Given the description of an element on the screen output the (x, y) to click on. 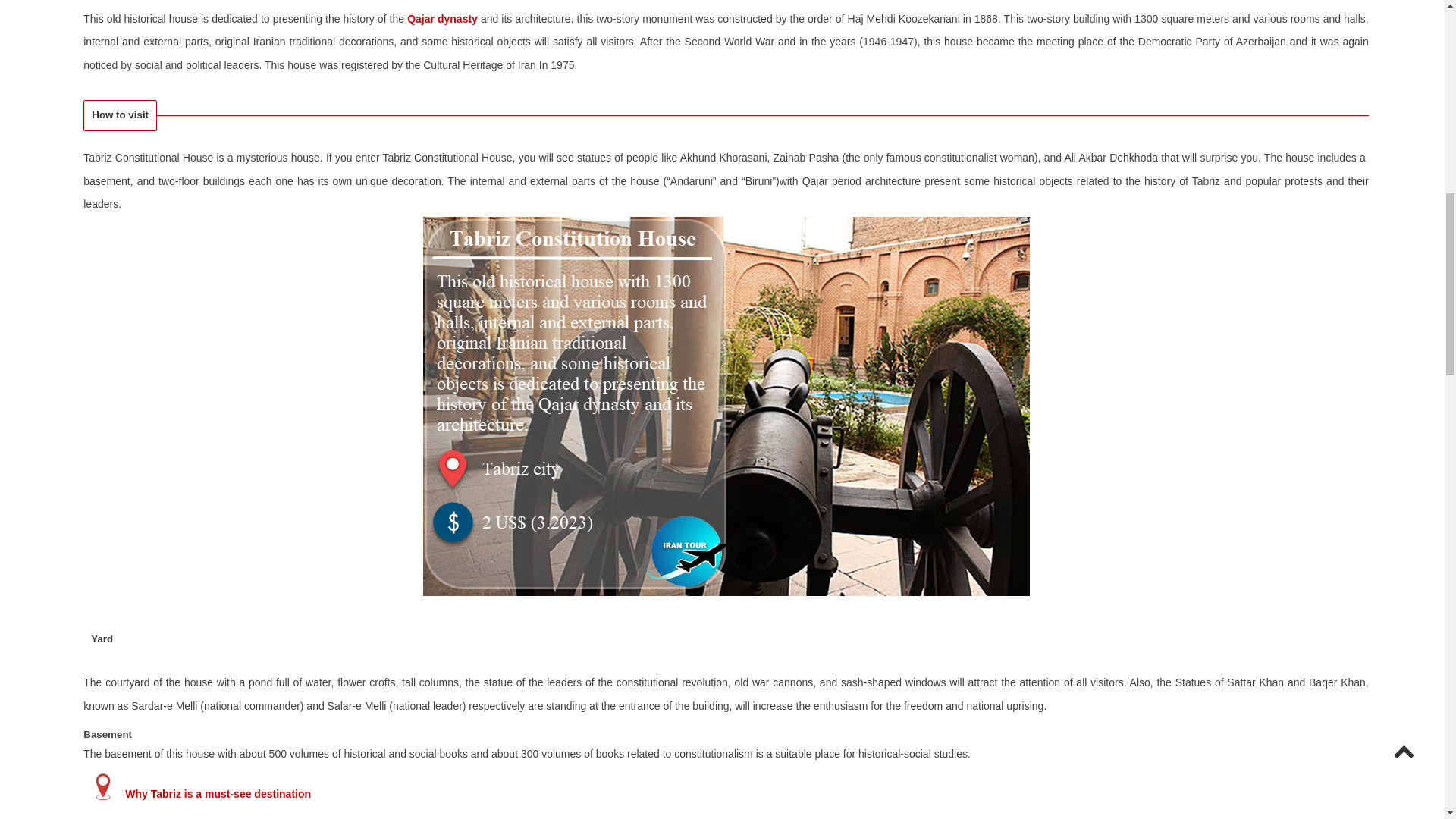
Why Tabriz is a must-see destination (218, 793)
Qajar dynasty (442, 19)
